Given the description of an element on the screen output the (x, y) to click on. 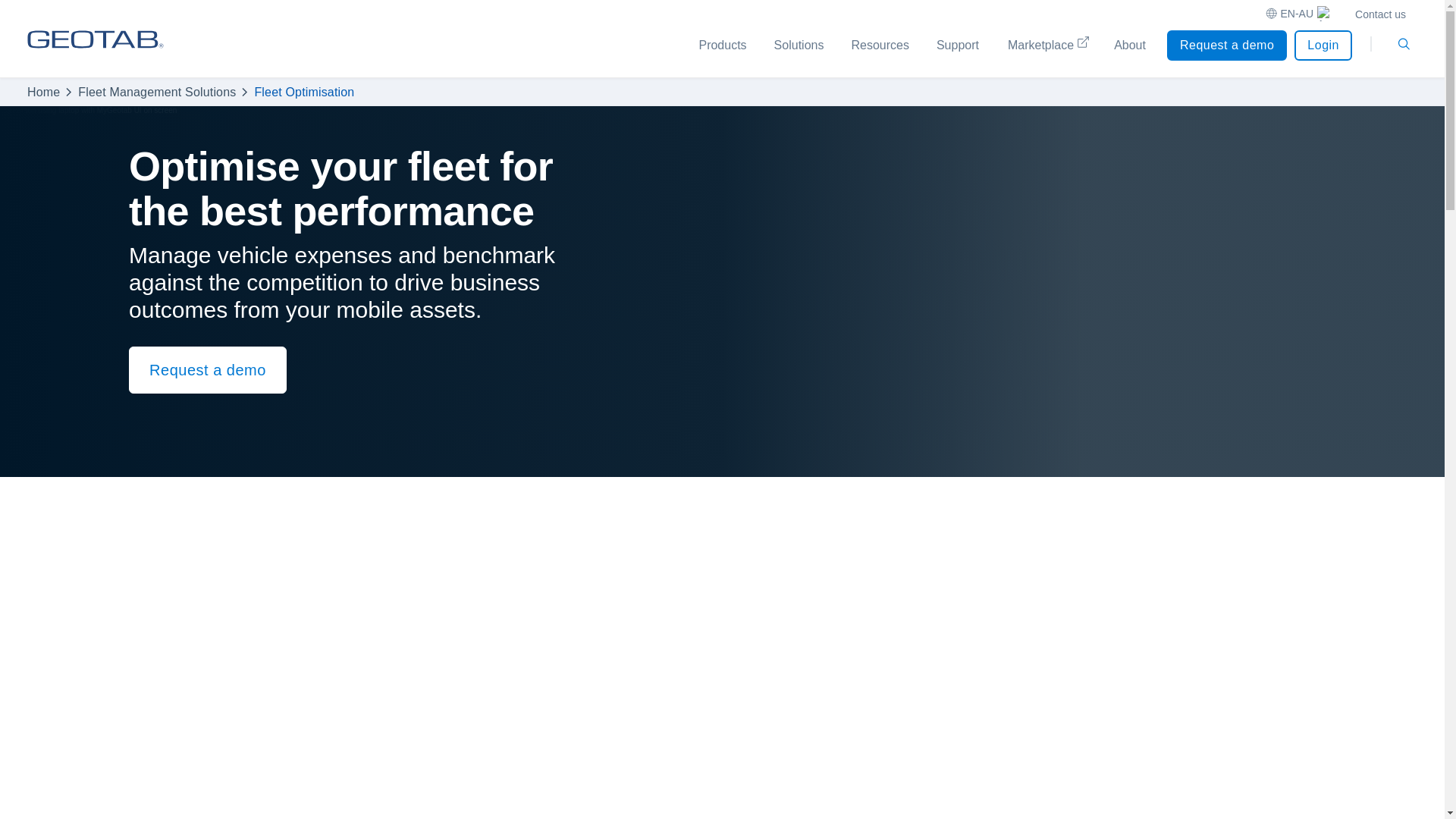
Contact us (1380, 15)
Go to Homepage (95, 53)
EN-AU (1298, 14)
Search (1403, 43)
This link may open in a new tab (1045, 53)
